Given the description of an element on the screen output the (x, y) to click on. 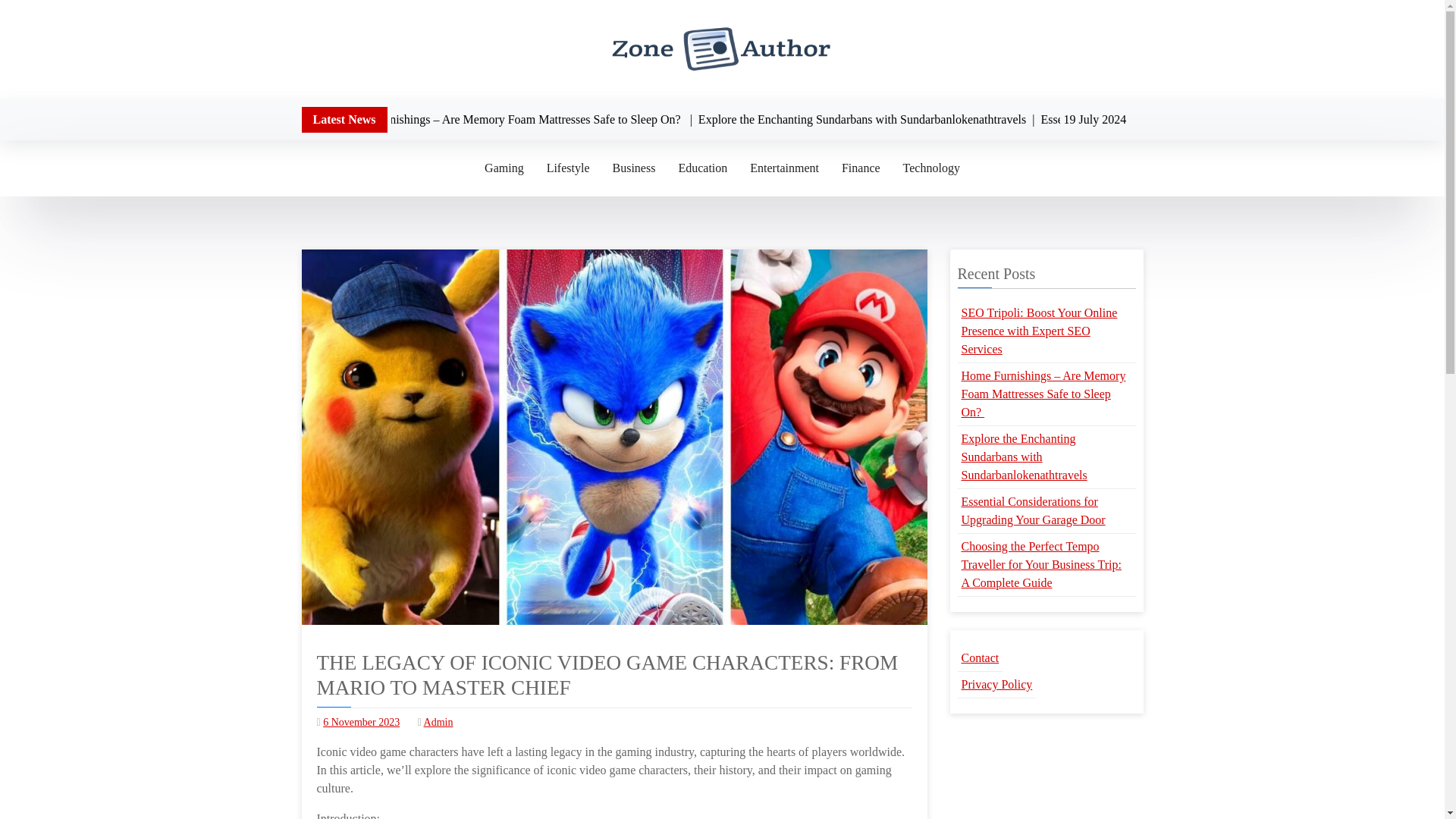
6 November 2023 (360, 722)
Privacy Policy (995, 684)
Technology (931, 168)
Admin (437, 722)
Lifestyle (568, 168)
Entertainment (783, 168)
Business (633, 168)
Contact (979, 658)
Essential Considerations for Upgrading Your Garage Door (1045, 510)
Education (702, 168)
Gaming (504, 168)
Finance (860, 168)
